Given the description of an element on the screen output the (x, y) to click on. 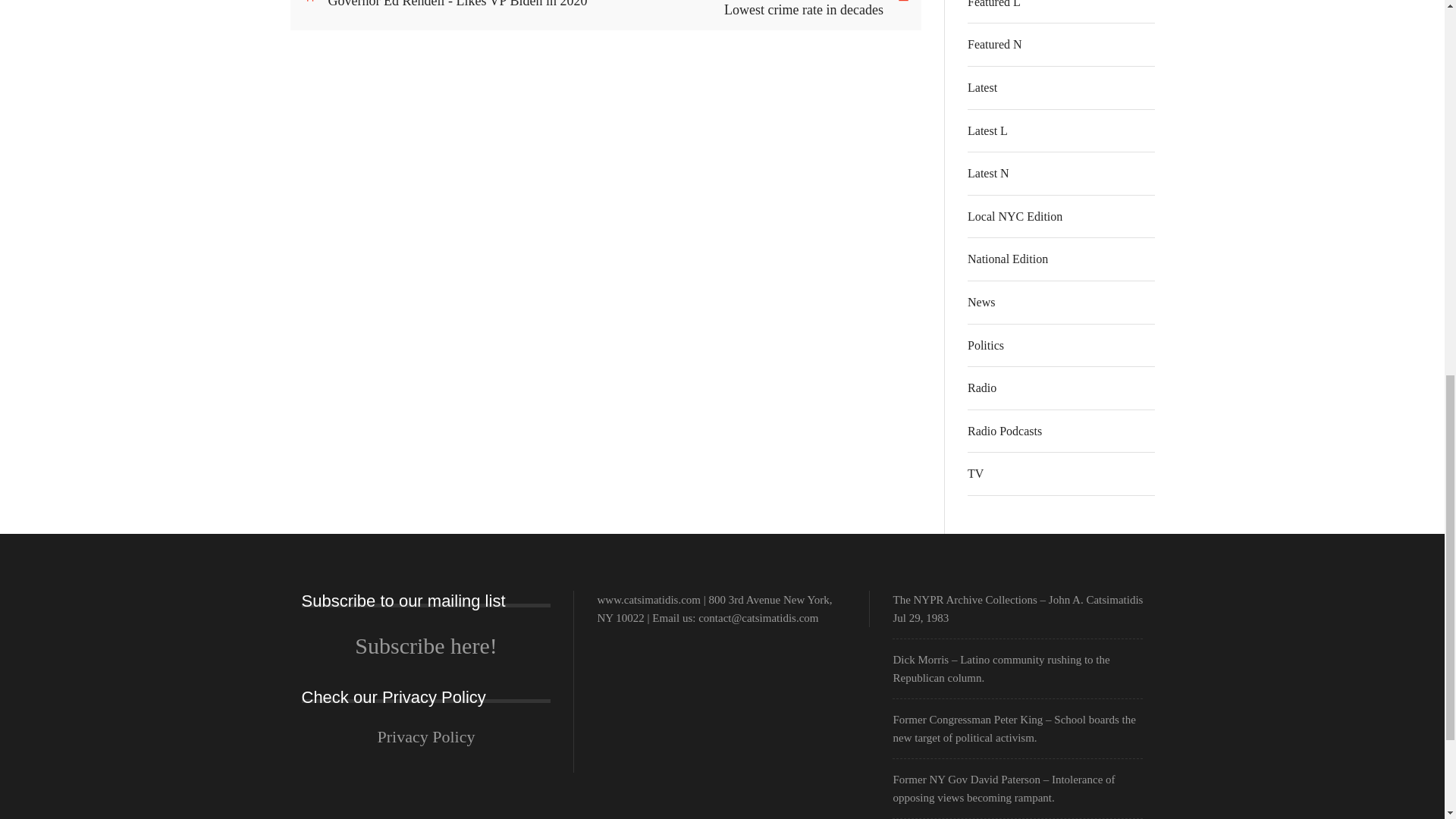
Governor Ed Rendell - Likes VP Biden in 2020 (462, 5)
